Given the description of an element on the screen output the (x, y) to click on. 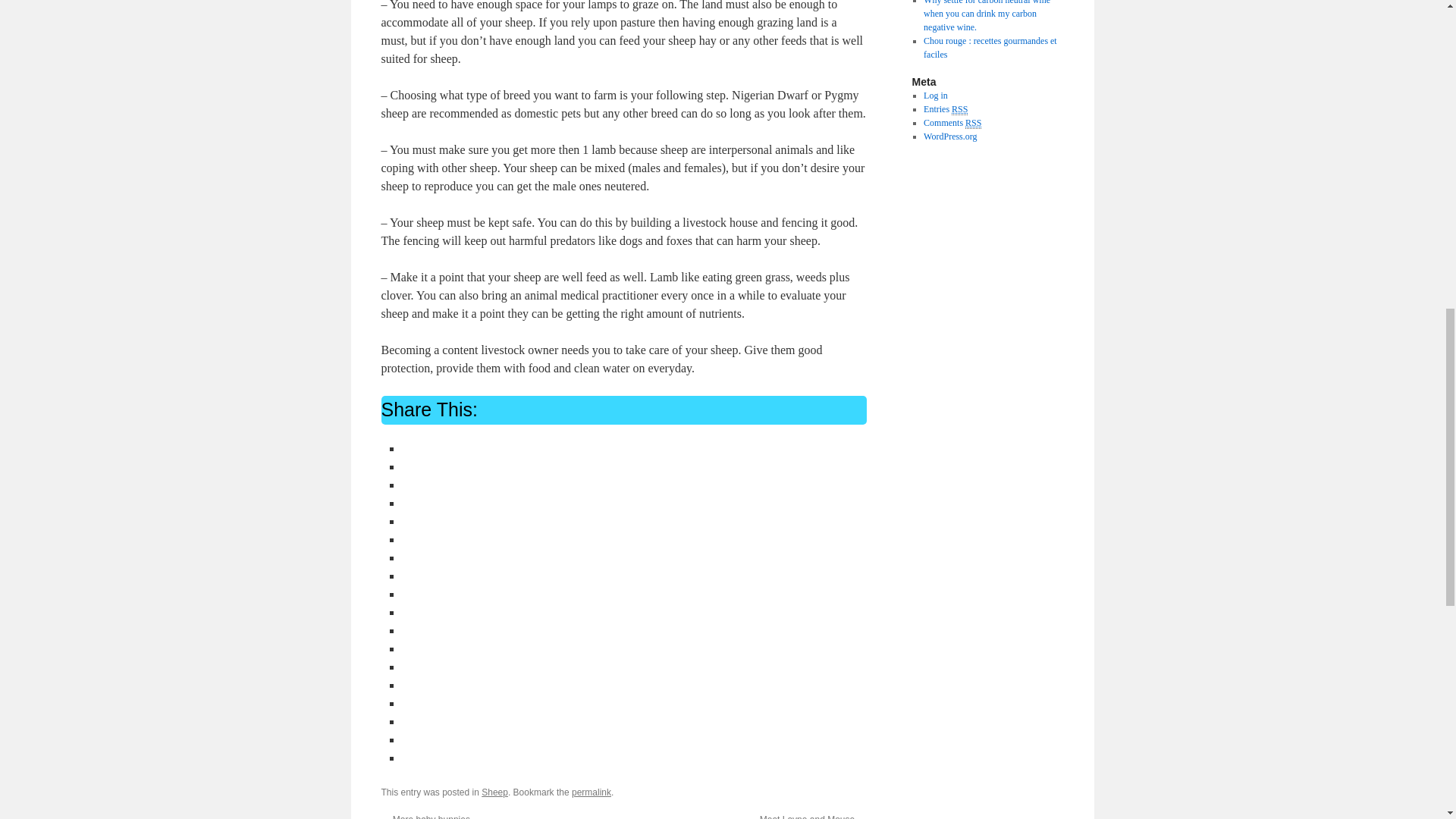
Really Simple Syndication (973, 122)
Really Simple Syndication (960, 109)
Sheep (494, 792)
